Given the description of an element on the screen output the (x, y) to click on. 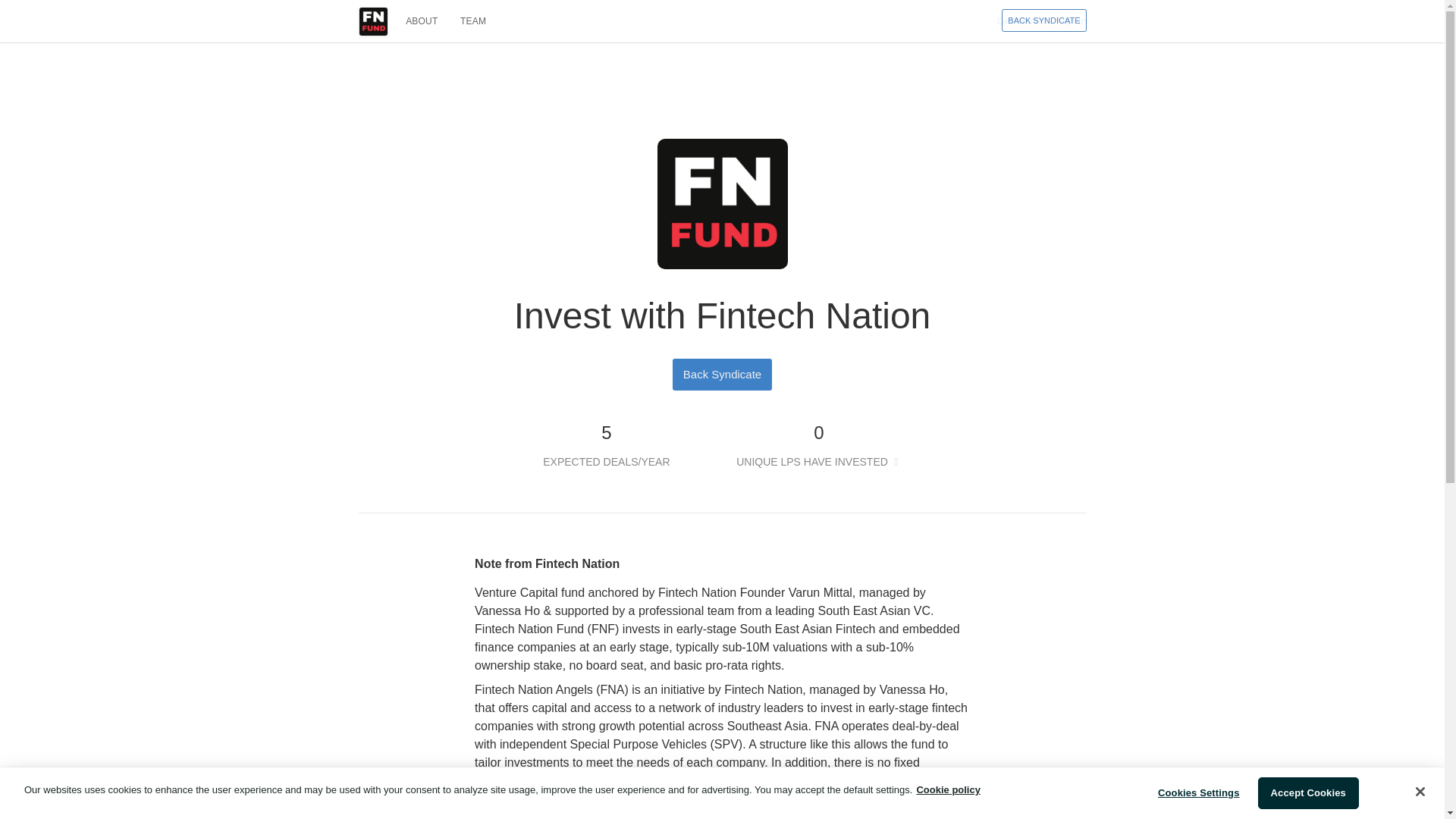
Get Started (1021, 20)
BACK SYNDICATE (1043, 20)
Sign In (1070, 20)
TEAM (472, 21)
Cookie policy (947, 789)
ABOUT (421, 21)
Back Syndicate (721, 373)
Cookies Settings (1198, 793)
Accept Cookies (1307, 793)
